Given the description of an element on the screen output the (x, y) to click on. 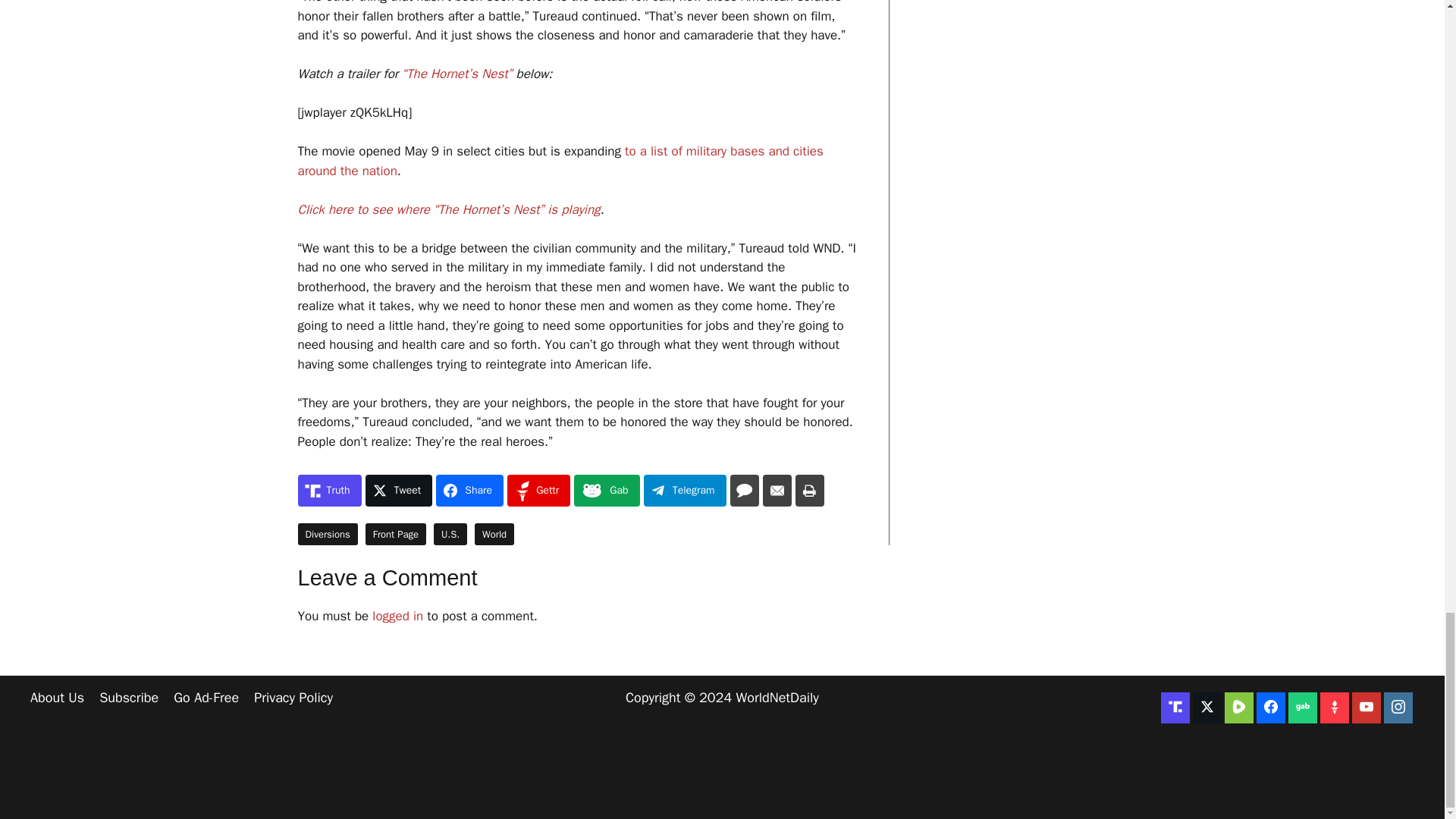
Share on Truth (329, 490)
Share on Gettr (538, 490)
Share on Share (469, 490)
Share on Tweet (398, 490)
